Given the description of an element on the screen output the (x, y) to click on. 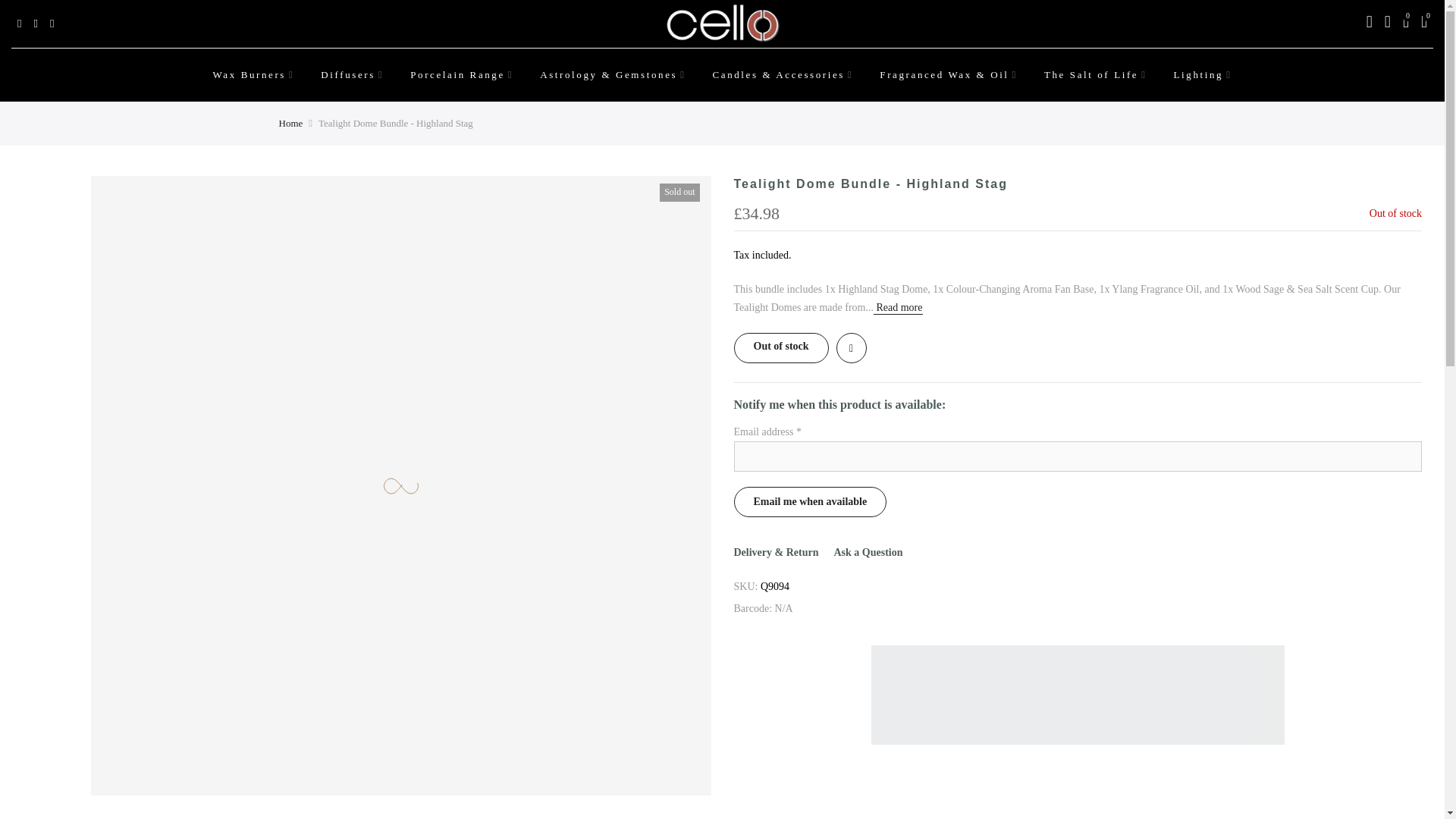
Wax Burners (253, 74)
0 (1405, 23)
Porcelain Range (462, 74)
Diffusers (352, 74)
Email me when available (809, 501)
